Given the description of an element on the screen output the (x, y) to click on. 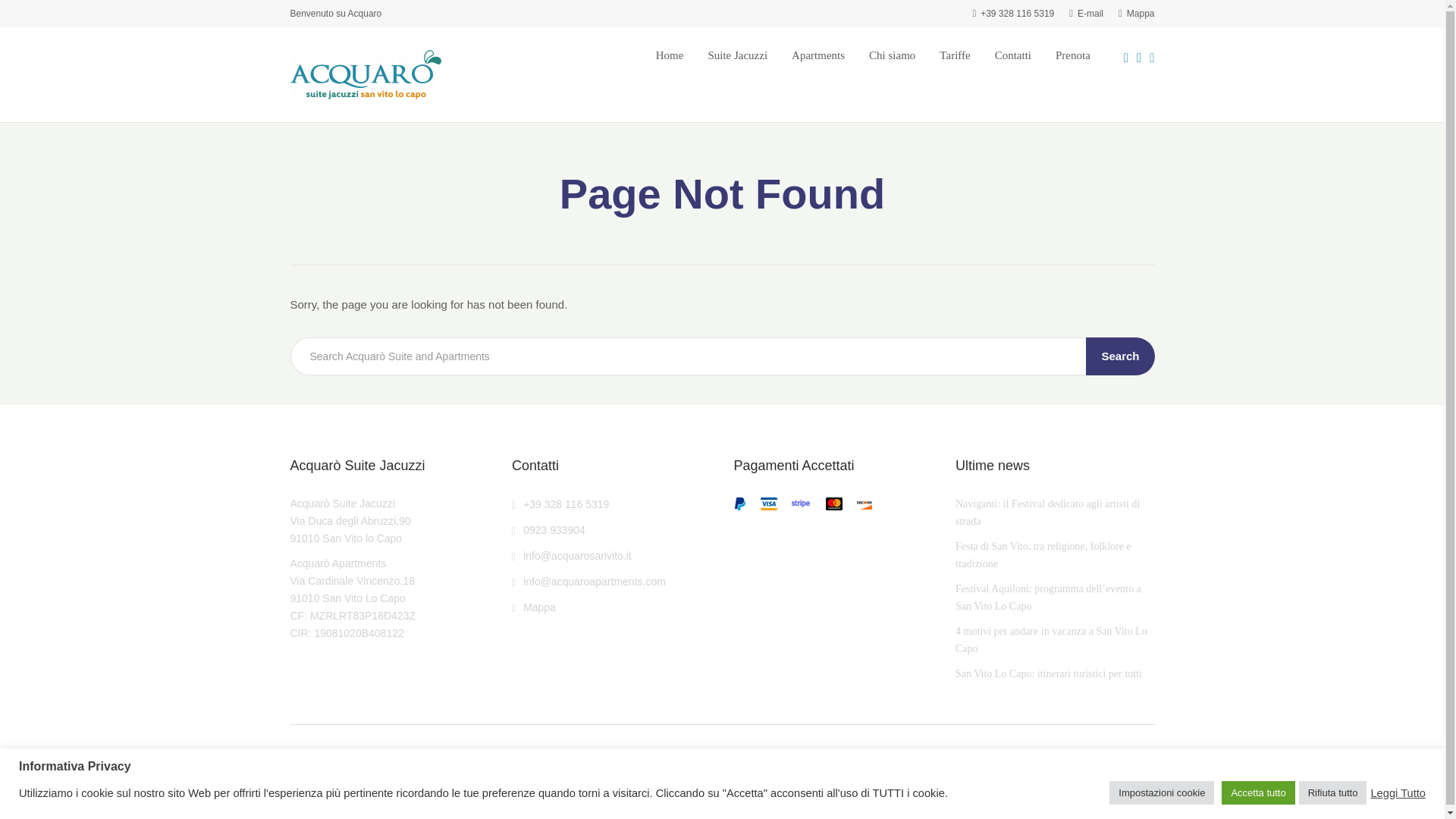
Mappa (534, 607)
Prenota (1072, 55)
Contatti (1012, 55)
Chi siamo (892, 55)
Suite Jacuzzi (737, 55)
Search (1120, 356)
0923 933904 (548, 530)
Apartments (818, 55)
E-mail (1085, 13)
Mappa (1136, 13)
